Given the description of an element on the screen output the (x, y) to click on. 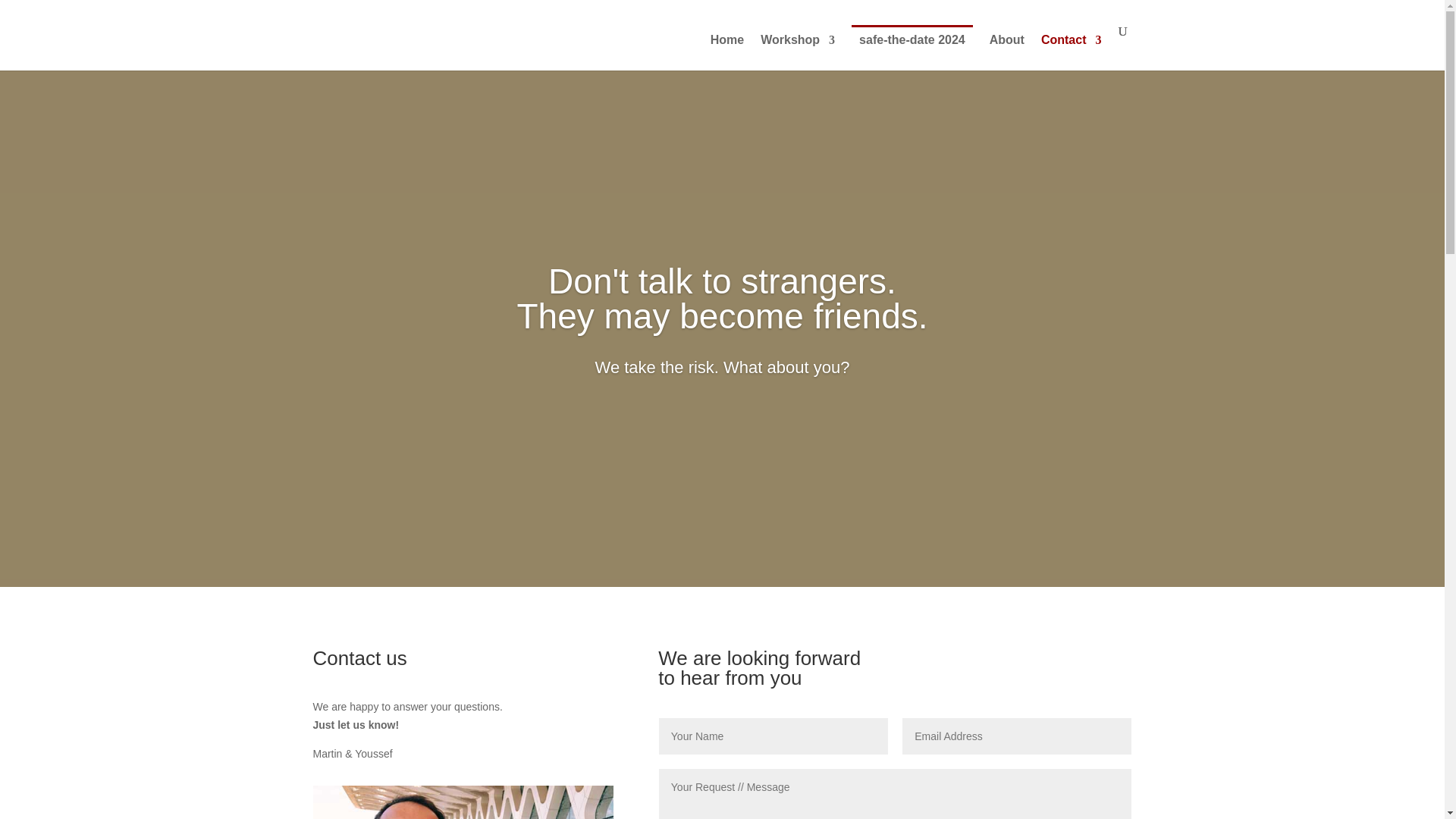
Contact (1071, 52)
safe-the-date 2024 (911, 47)
Workshop (797, 52)
About (1007, 52)
Home (727, 52)
